Given the description of an element on the screen output the (x, y) to click on. 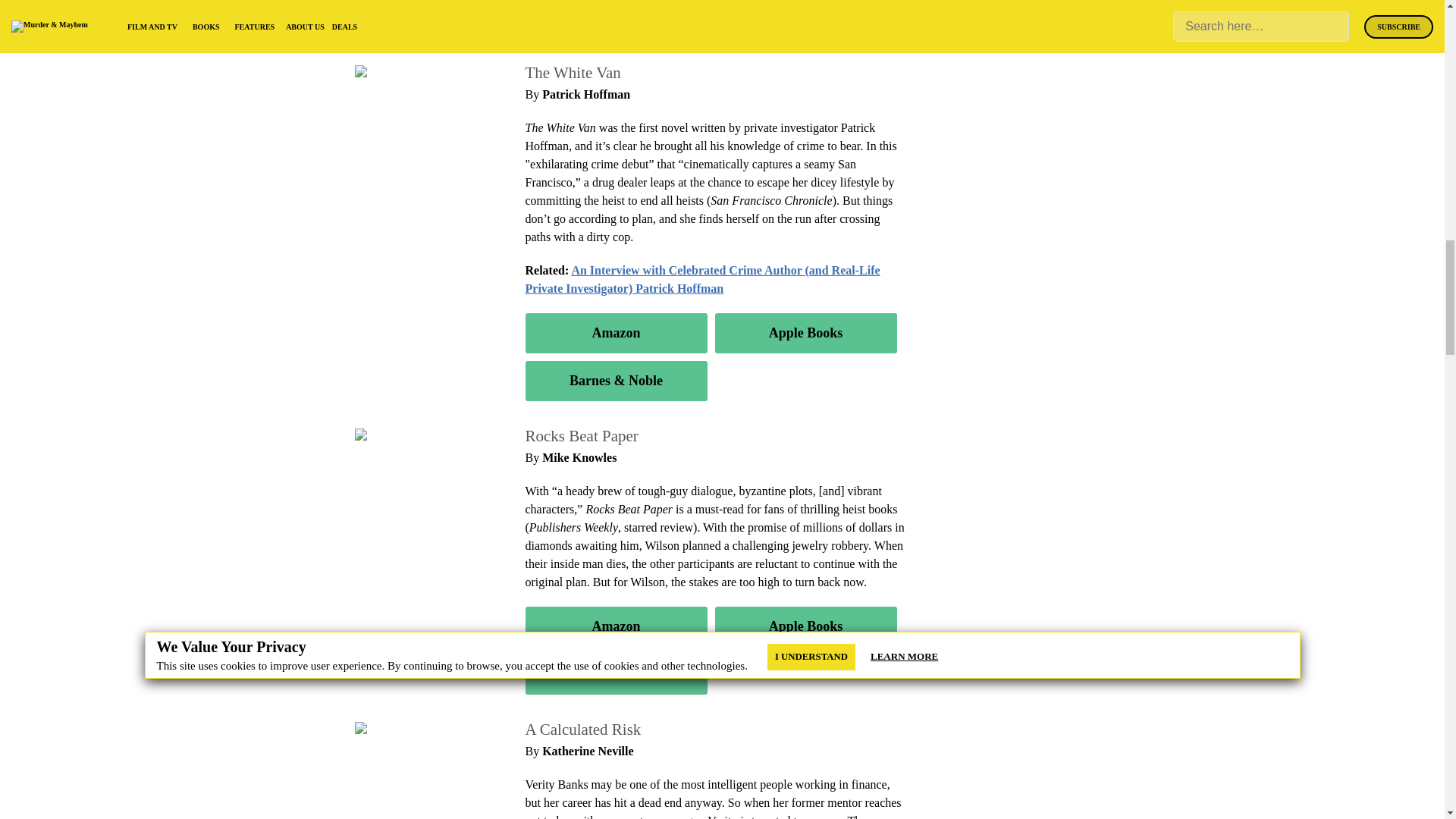
The-White-Van (397, 71)
Rocks-Beat-Paper (403, 435)
A-Calculated-Risk (404, 728)
Amazon (615, 332)
